Given the description of an element on the screen output the (x, y) to click on. 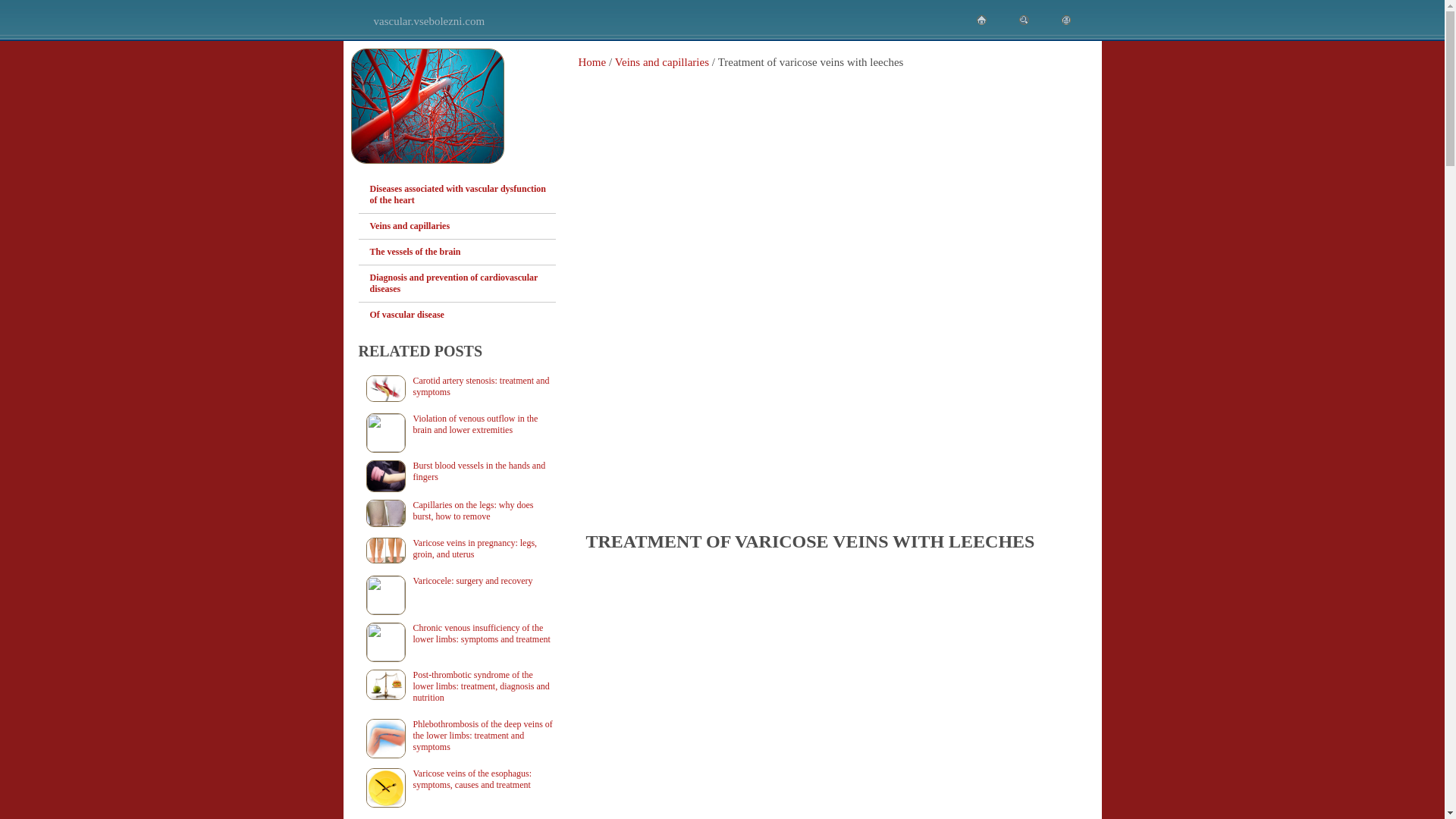
Diseases associated with vascular dysfunction of the heart (462, 194)
Capillaries on the legs: why does burst, how to remove (456, 510)
Varicocele: surgery and recovery (456, 581)
vascular.vsebolezni.com (428, 21)
Of vascular disease (462, 314)
Advertisement (835, 409)
Varicose veins in pregnancy: legs, groin, and uterus (456, 548)
Diagnosis and prevention of cardiovascular diseases (462, 283)
Carotid artery stenosis: treatment and symptoms (456, 386)
Veins and capillaries (661, 61)
Home (591, 61)
The vessels of the brain (462, 251)
